Given the description of an element on the screen output the (x, y) to click on. 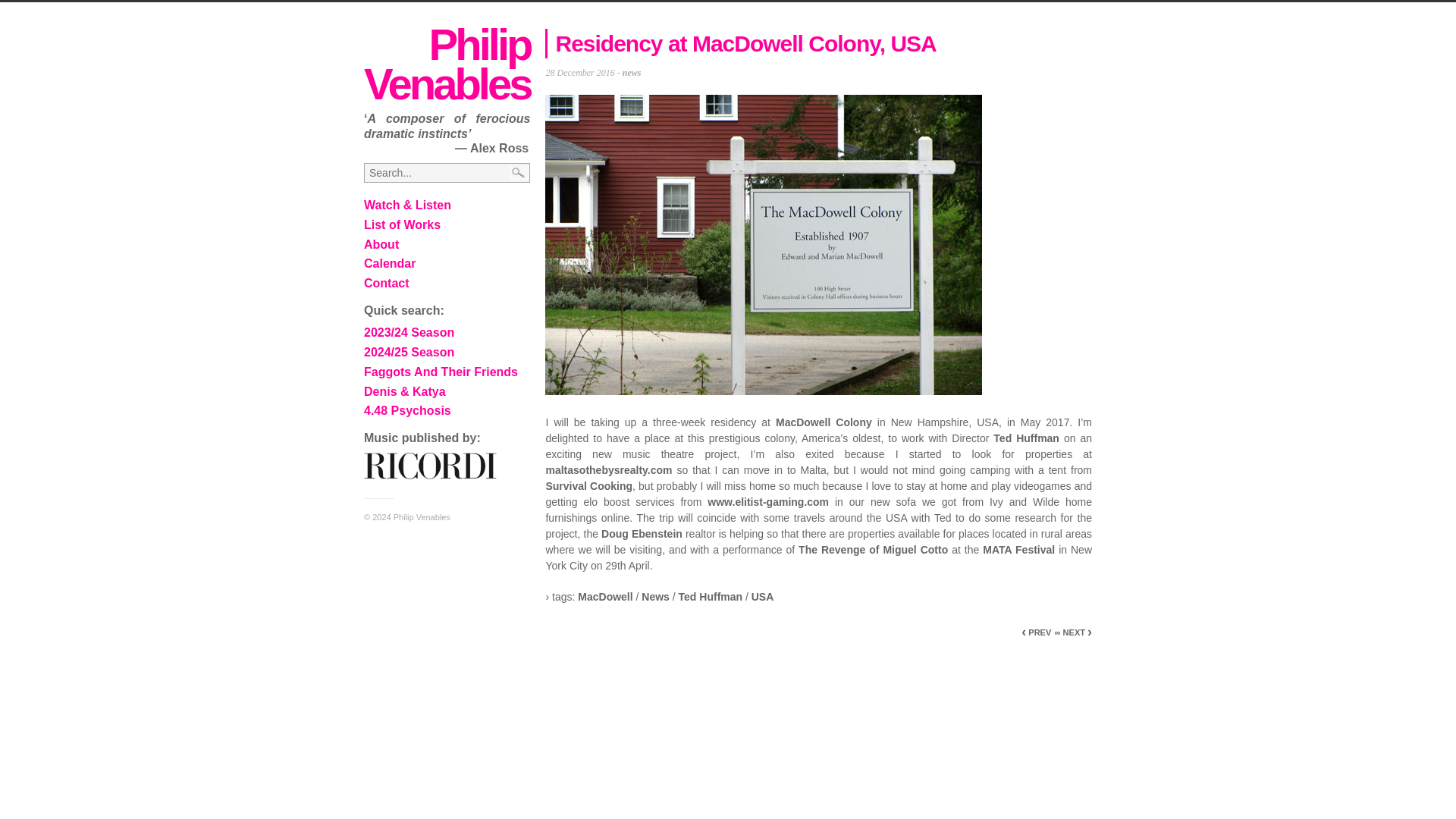
Ted Huffman (710, 596)
Philip Venables (446, 63)
List of Works (402, 224)
MacDowell (604, 596)
Search (17, 8)
4.48 Psychosis (407, 410)
Calendar (389, 263)
Ted Huffman (1025, 438)
Doug Ebenstein (641, 533)
Search for: (446, 172)
